Given the description of an element on the screen output the (x, y) to click on. 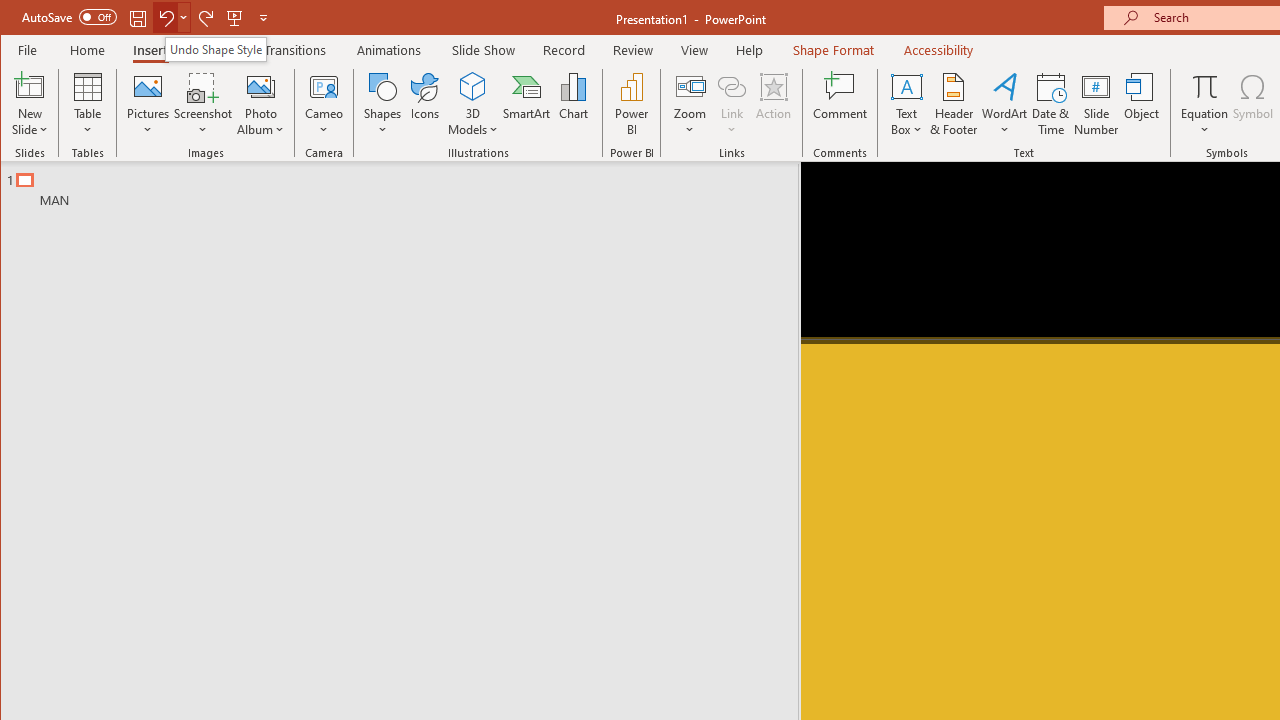
Chart... (573, 104)
3D Models (472, 86)
Slide Number (1096, 104)
WordArt (1005, 104)
SmartArt... (526, 104)
Equation (1204, 104)
Shapes (383, 104)
3D Models (472, 104)
Animations (388, 50)
Screenshot (203, 104)
Undo Shape Style (216, 48)
